Given the description of an element on the screen output the (x, y) to click on. 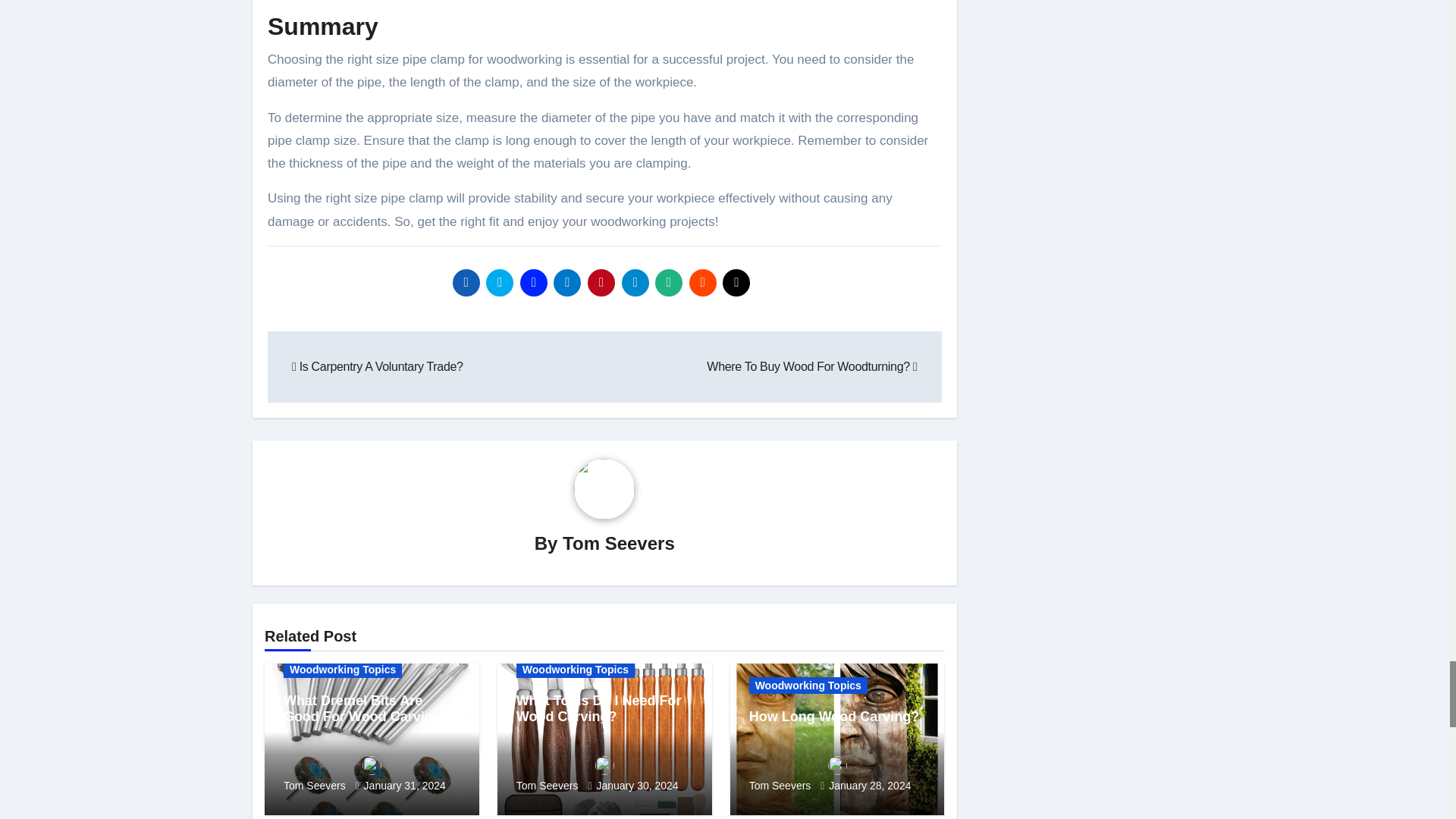
What Dremel Bits Are Good For Wood Carving? (366, 708)
Permalink to: How Long Wood Carving? (834, 716)
Permalink to: What Dremel Bits Are Good For Wood Carving? (366, 708)
Is Carpentry A Voluntary Trade? (377, 366)
Woodworking Topics (342, 669)
Where To Buy Wood For Woodturning? (811, 366)
Woodworking Topics (575, 669)
January 31, 2024 (404, 785)
Tom Seevers (371, 773)
Tom Seevers (618, 543)
